Given the description of an element on the screen output the (x, y) to click on. 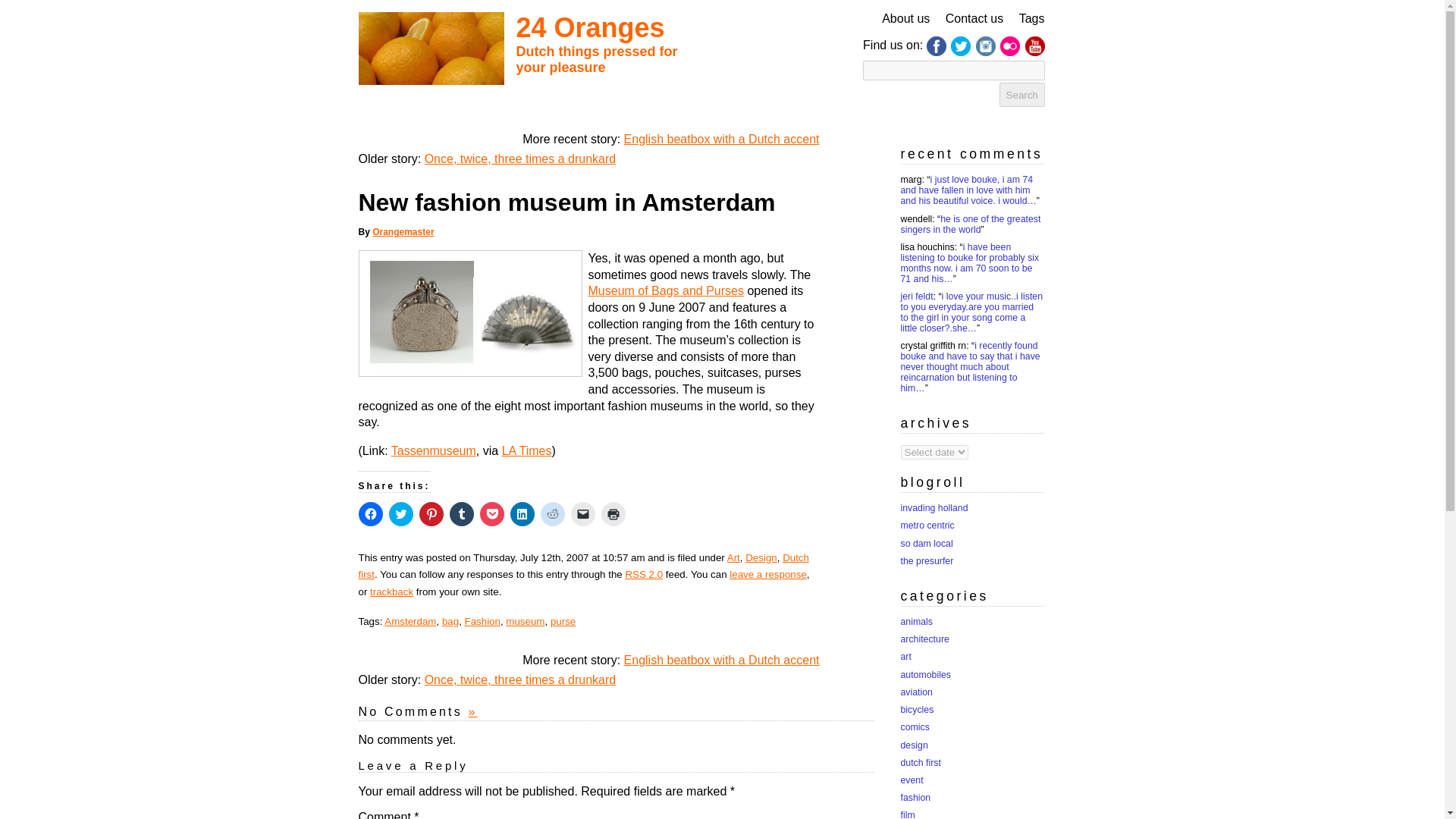
Orangemaster (402, 231)
purse (562, 621)
Art (732, 557)
RSS 2.0 (643, 573)
Tassenmuseum (433, 450)
24 Oranges (589, 27)
Amsterdam (409, 621)
Fashion (482, 621)
Tags (1032, 18)
museum (524, 621)
Once, twice, three times a drunkard (520, 679)
bag (450, 621)
Design (761, 557)
Museum of Bags and Purses (666, 290)
English beatbox with a Dutch accent (721, 138)
